Given the description of an element on the screen output the (x, y) to click on. 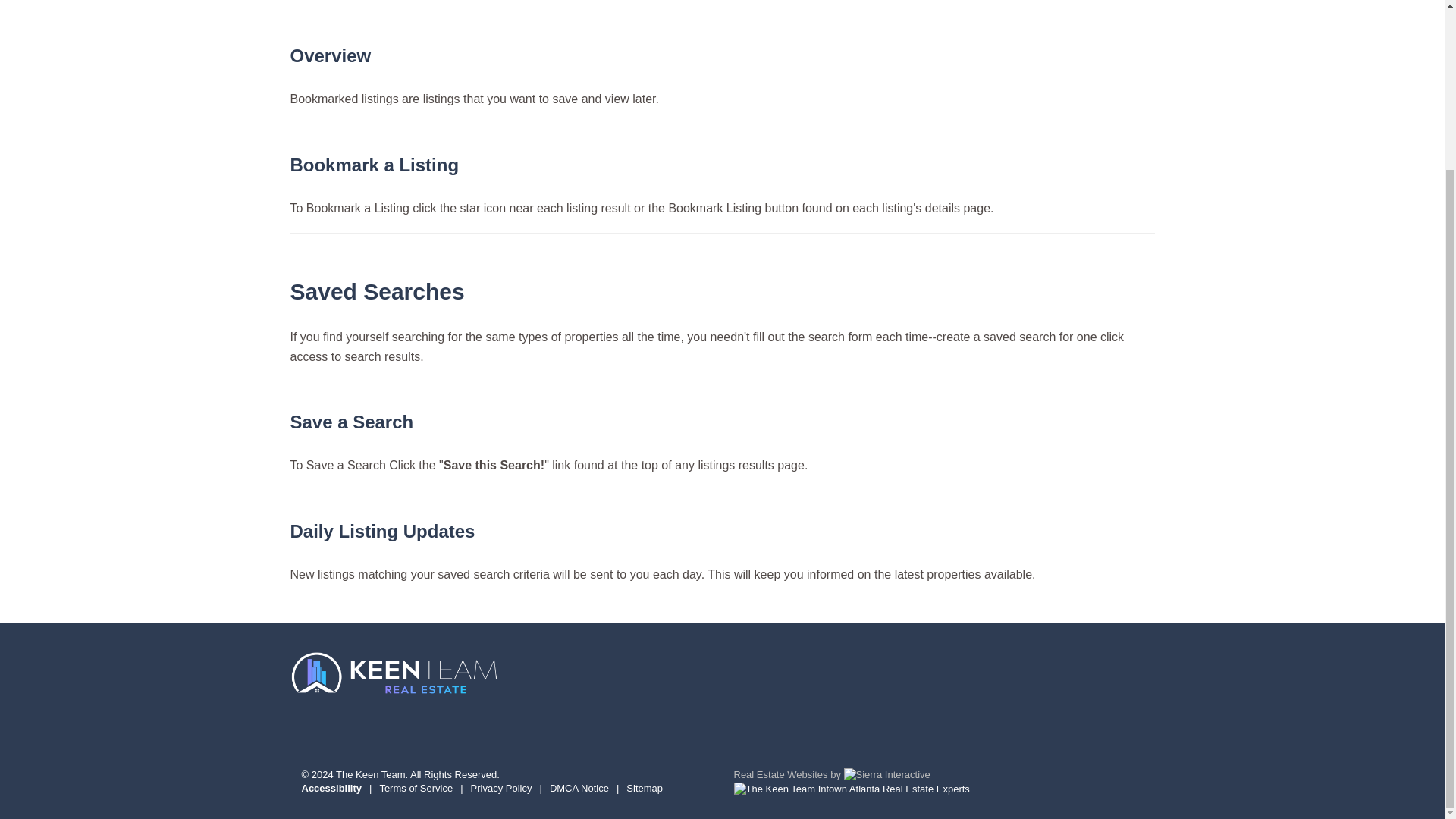
Terms of Service (415, 787)
Real Estate Websites by (838, 774)
Privacy Policy (501, 787)
DMCA Notice (579, 787)
Accessibility (331, 787)
Sitemap (644, 787)
